Given the description of an element on the screen output the (x, y) to click on. 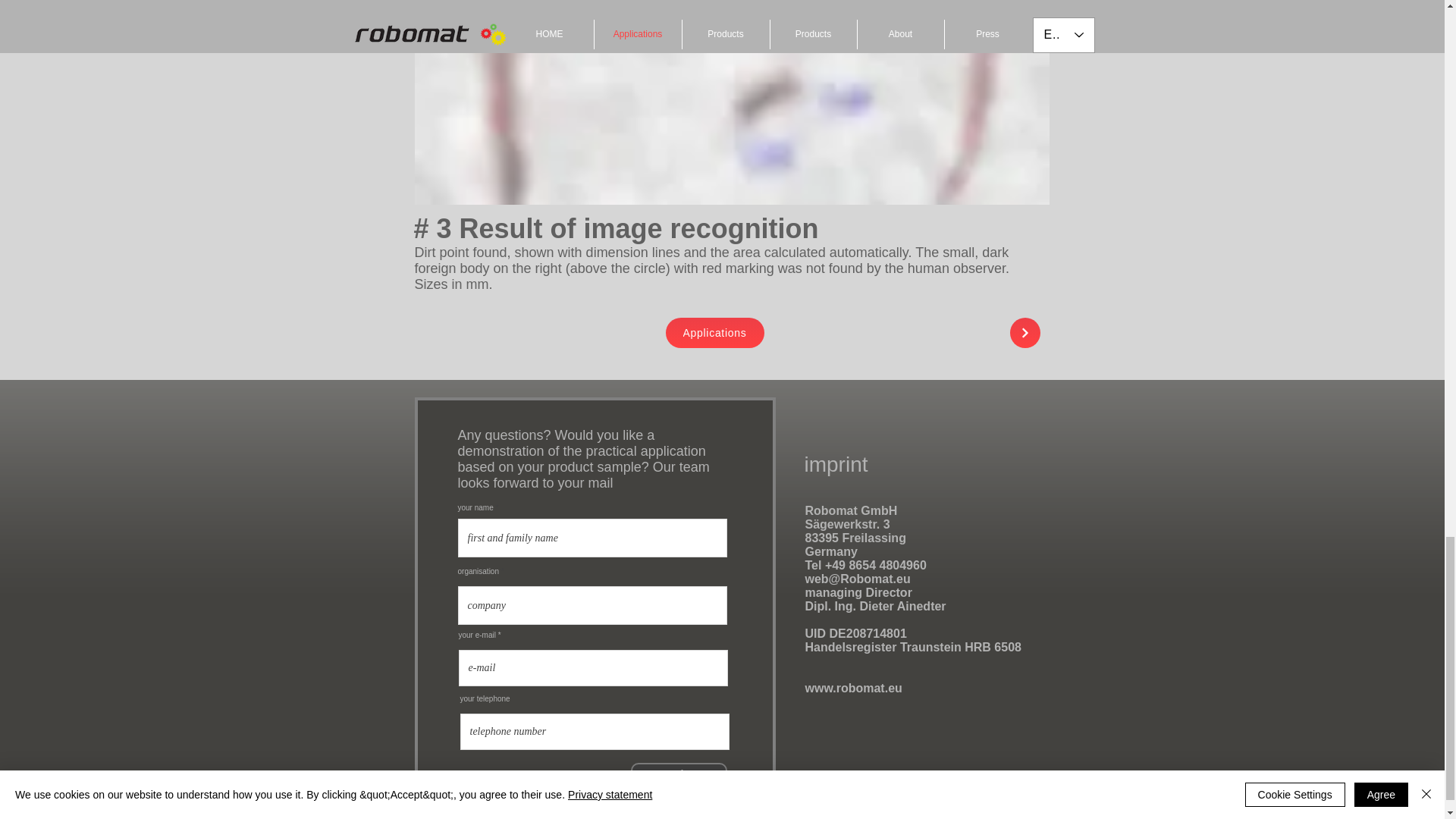
Continue (678, 774)
www.robomat.eu (853, 687)
Applications (714, 332)
privacy (874, 787)
